Given the description of an element on the screen output the (x, y) to click on. 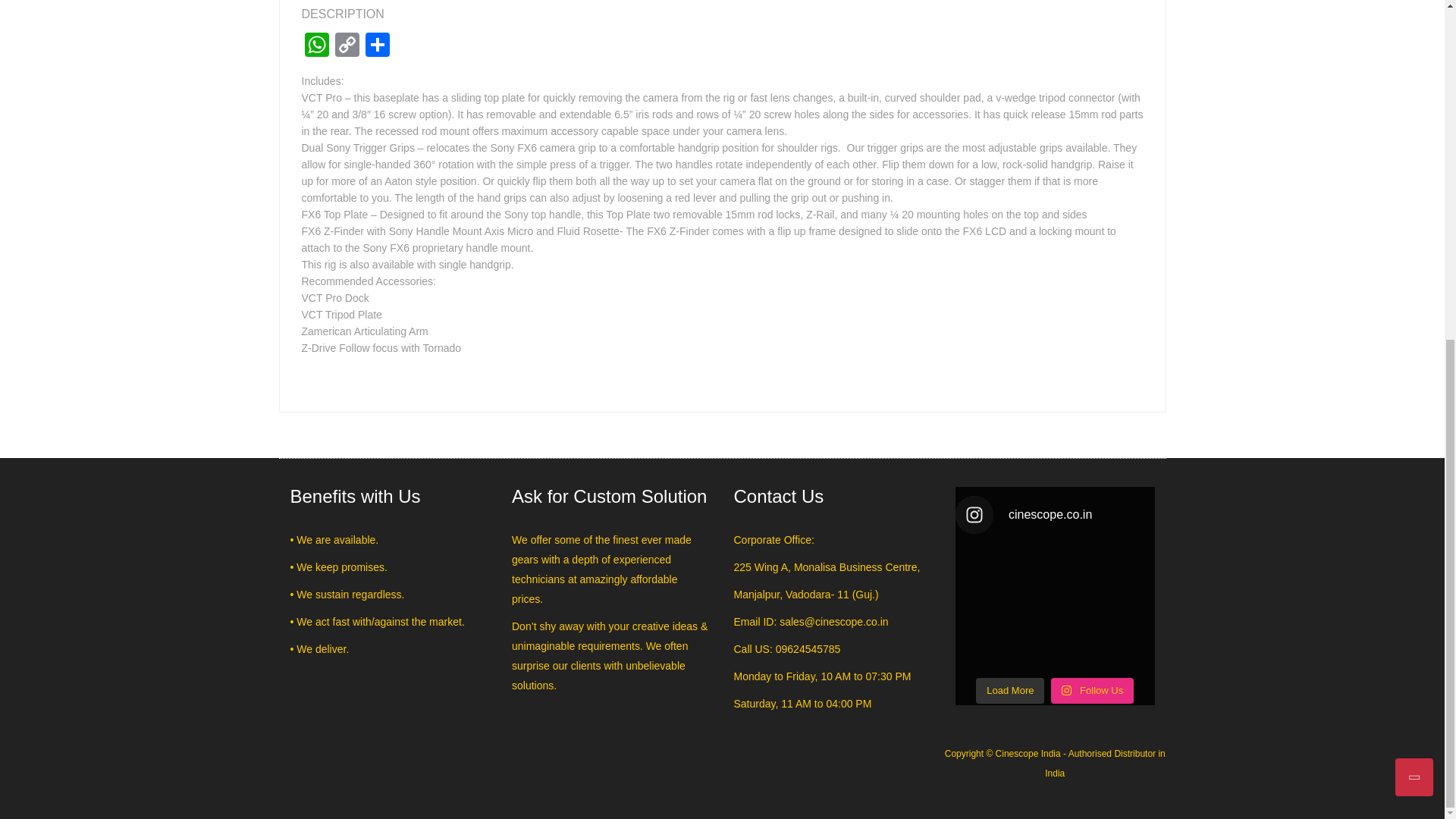
Copy Link (346, 46)
cinescope.co.in (1054, 514)
WhatsApp (316, 46)
z-sx6zr-pdg (495, 35)
WhatsApp (316, 46)
Copy Link (346, 46)
